Given the description of an element on the screen output the (x, y) to click on. 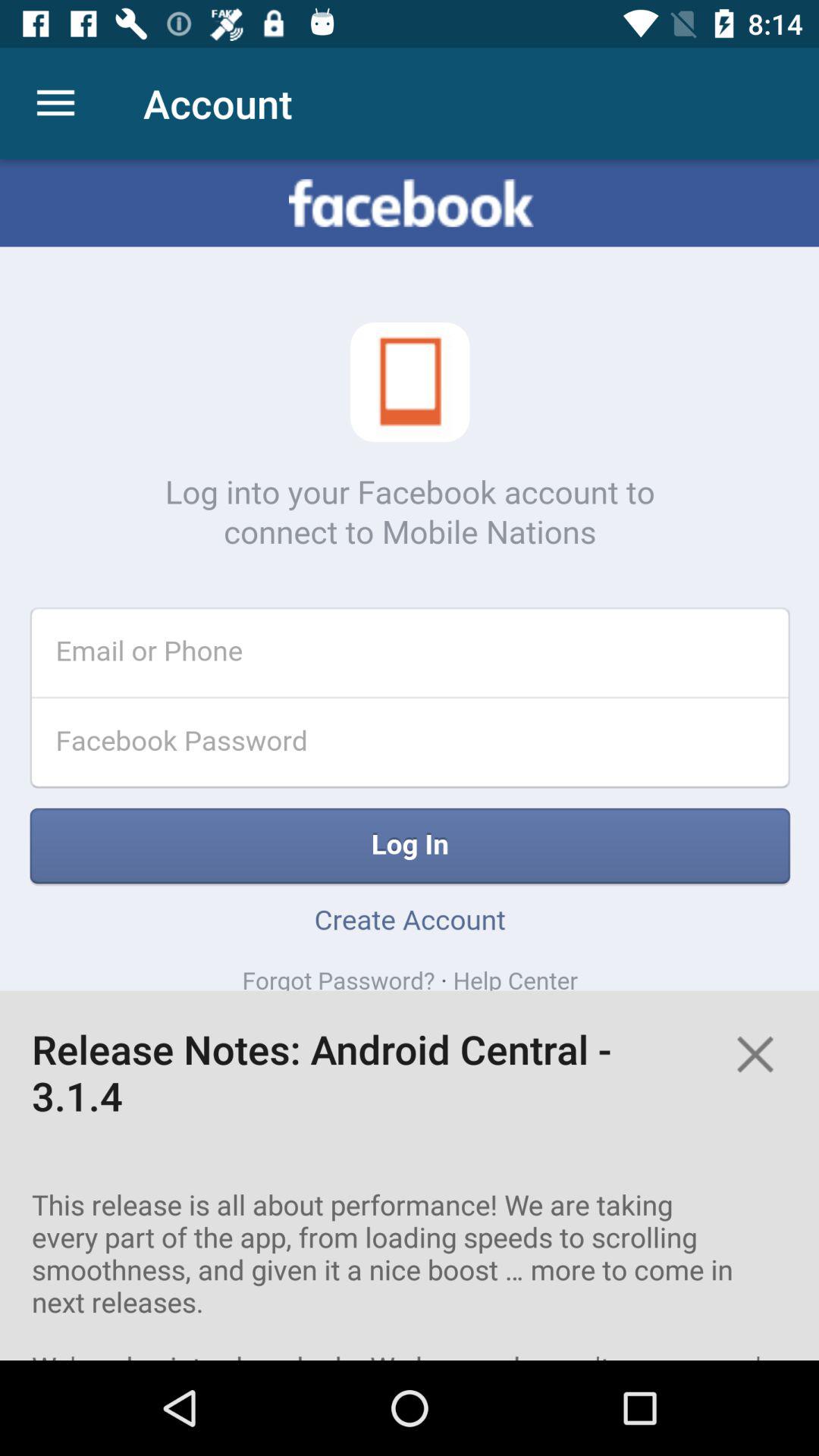
close note (755, 1054)
